Given the description of an element on the screen output the (x, y) to click on. 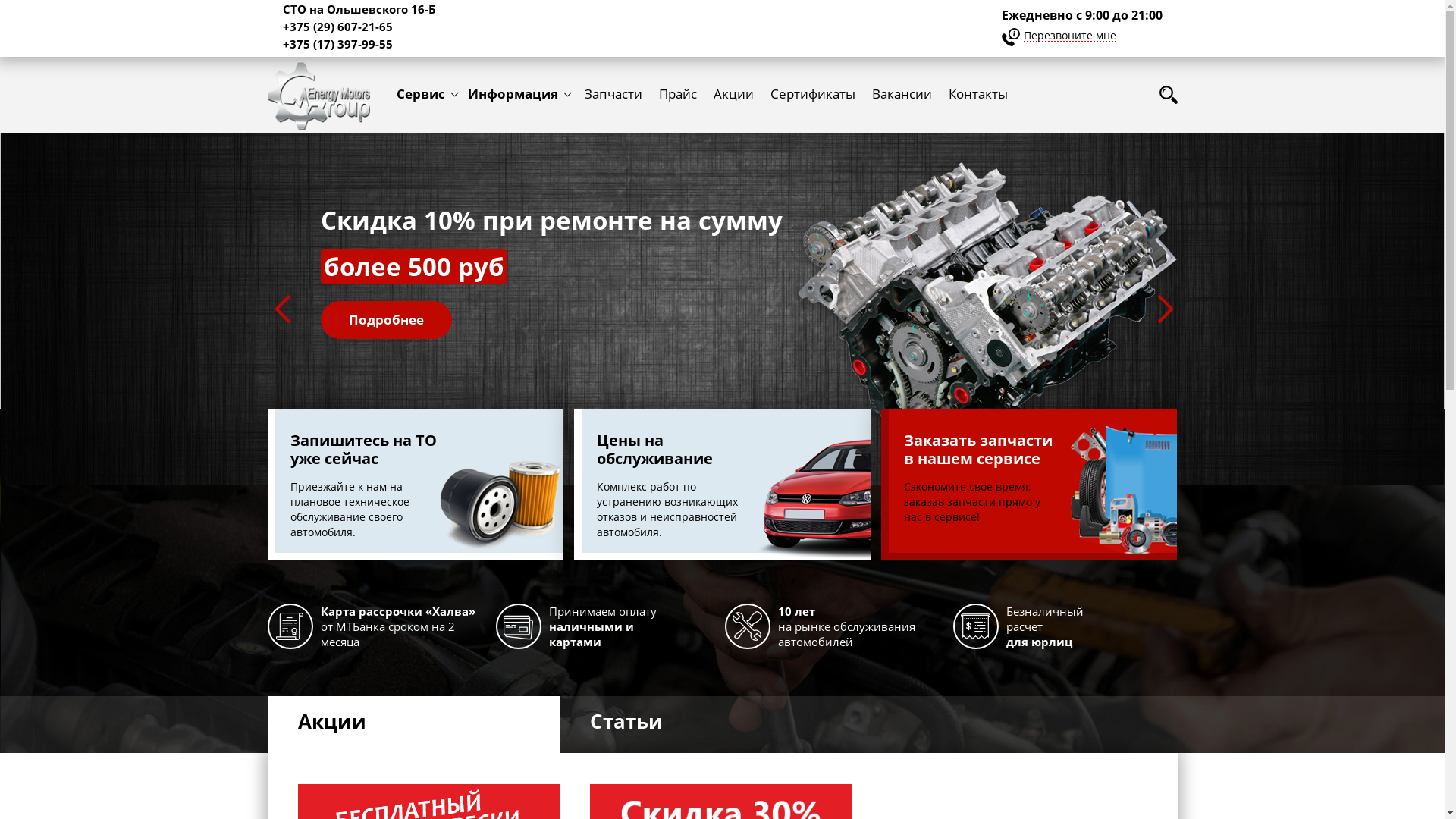
+375 (29) 607-21-65 Element type: text (337, 26)
+375 (17) 397-99-55 Element type: text (337, 43)
